Given the description of an element on the screen output the (x, y) to click on. 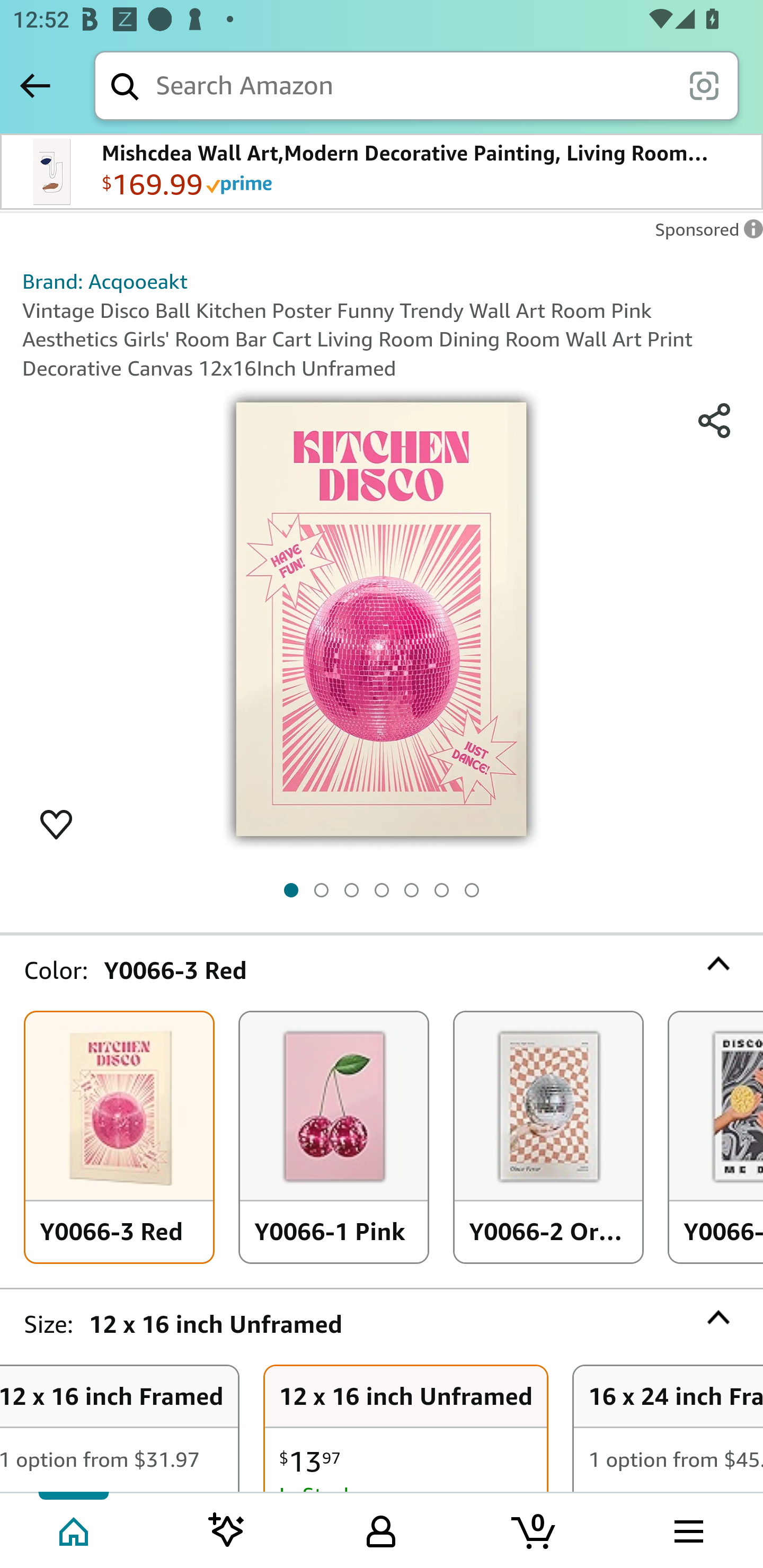
Back (35, 85)
Search Search Search Amazon scan it (416, 85)
scan it (704, 85)
Leave feedback on Sponsored ad Sponsored  (703, 234)
Brand: Acqooeakt (105, 281)
Heart to save an item to your default list (56, 822)
Y0066-3 Red (118, 1137)
Y0066-1 Pink (333, 1137)
Y0066-2 Orange (548, 1137)
12 x 16 inch Framed 1 option from $31.97 (119, 1428)
12 x 16 inch Unframed $13.97 In Stock (405, 1428)
Home Tab 1 of 5 (75, 1529)
Inspire feed Tab 2 of 5 (227, 1529)
Your Amazon.com Tab 3 of 5 (380, 1529)
Cart 0 item Tab 4 of 5 0 (534, 1529)
Browse menu Tab 5 of 5 (687, 1529)
